Given the description of an element on the screen output the (x, y) to click on. 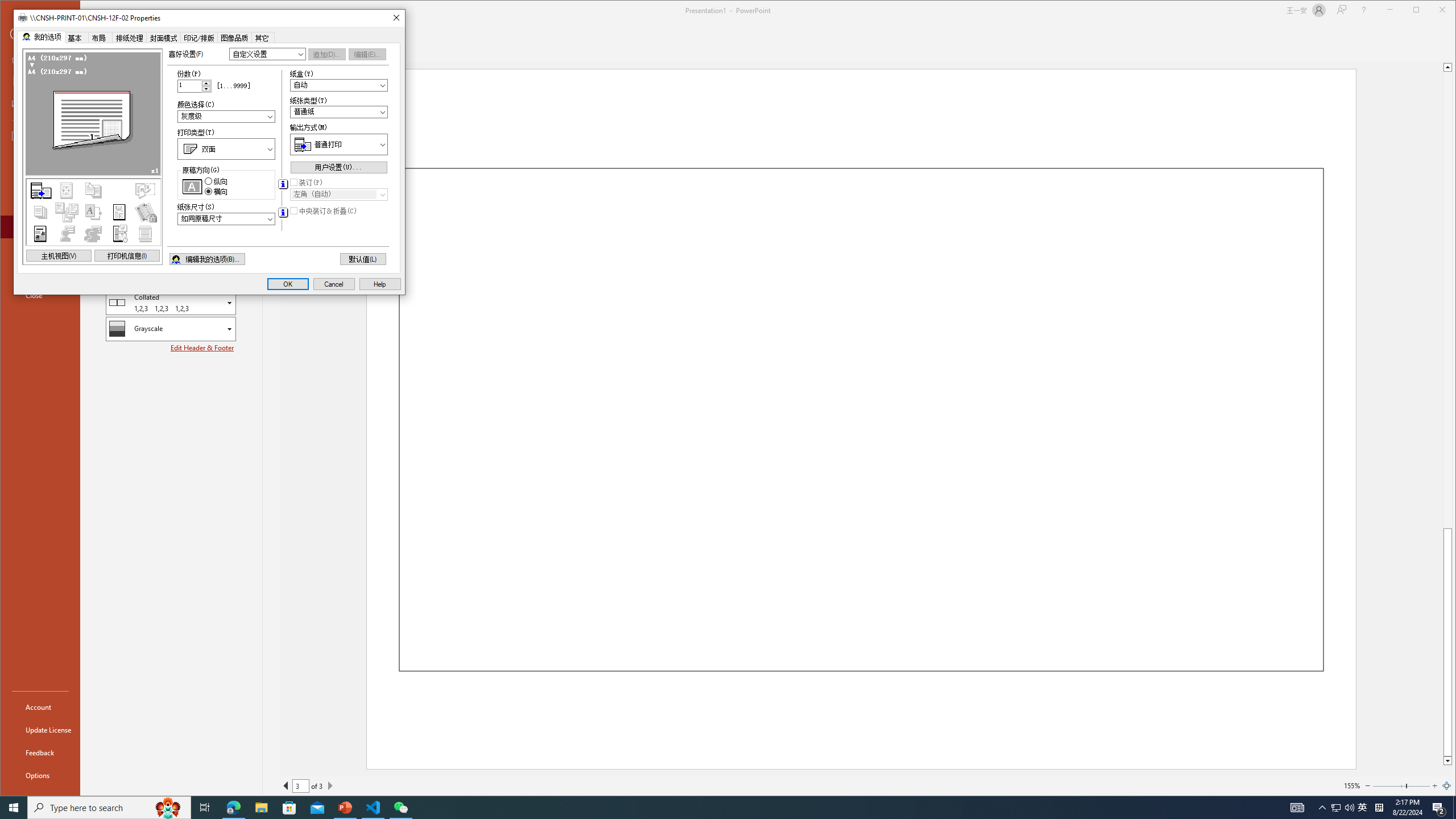
Edit Header & Footer (202, 347)
AutomationID: 4105 (1297, 807)
Microsoft Edge - 1 running window (233, 807)
Task View (204, 807)
Line down (1447, 760)
OK (287, 283)
Q2790: 100% (1349, 807)
